Given the description of an element on the screen output the (x, y) to click on. 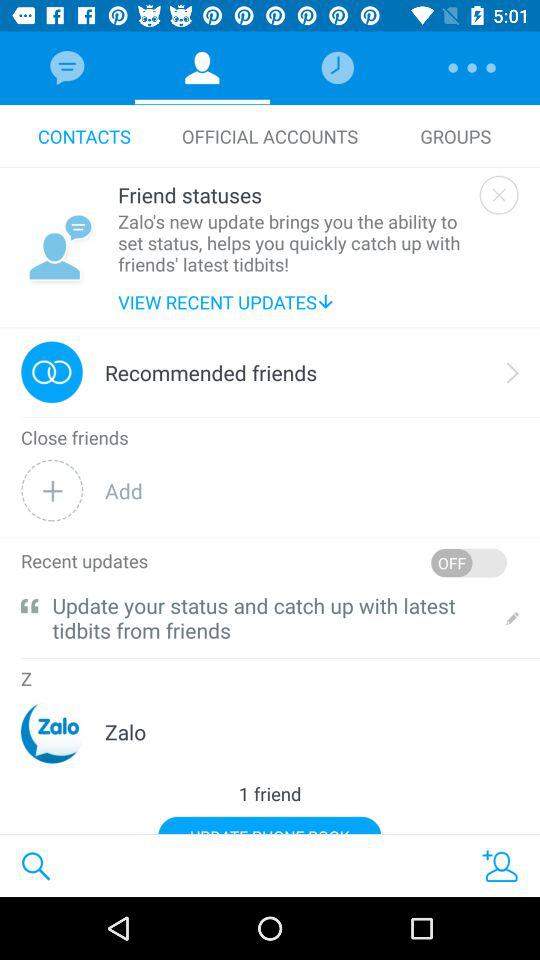
turn on item next to the contacts icon (269, 136)
